Given the description of an element on the screen output the (x, y) to click on. 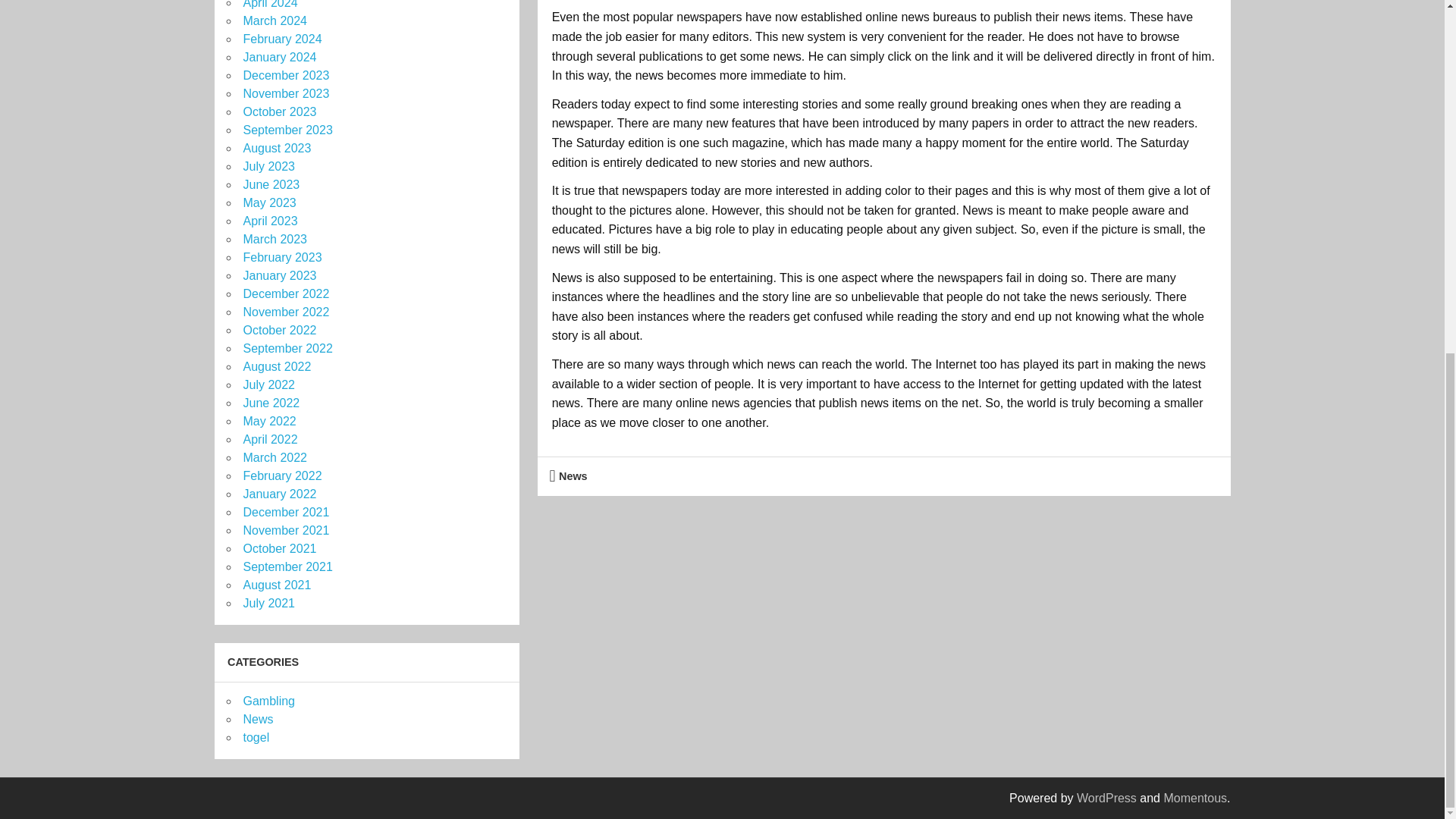
November 2023 (286, 92)
March 2023 (275, 238)
News (573, 476)
July 2023 (269, 165)
November 2022 (286, 311)
March 2024 (275, 20)
May 2022 (269, 420)
April 2022 (270, 439)
April 2024 (270, 4)
April 2023 (270, 220)
January 2023 (279, 275)
June 2022 (271, 402)
September 2022 (287, 348)
February 2024 (282, 38)
July 2022 (269, 384)
